Given the description of an element on the screen output the (x, y) to click on. 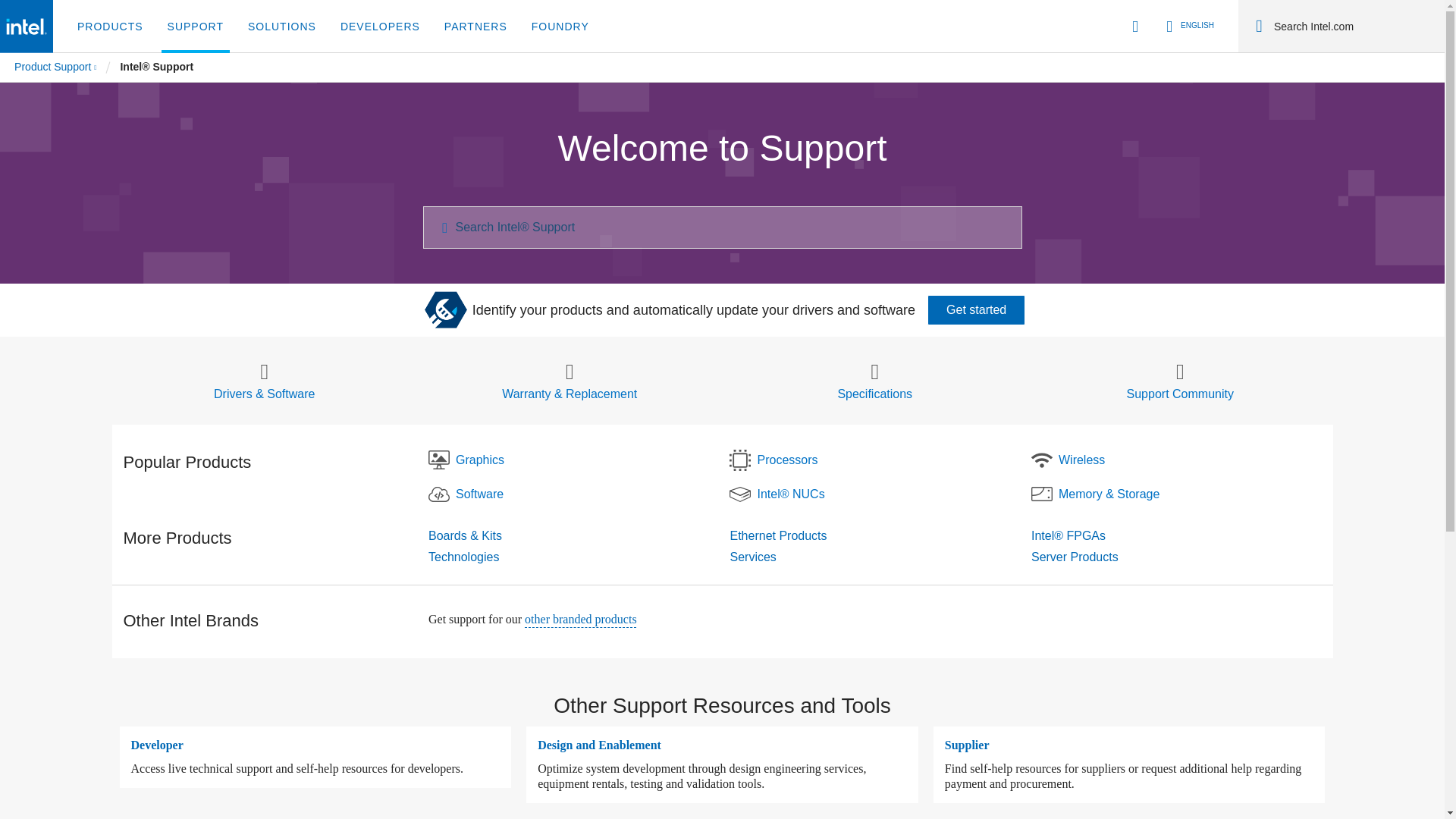
PRODUCTS (110, 26)
Language Selector (1187, 26)
